Given the description of an element on the screen output the (x, y) to click on. 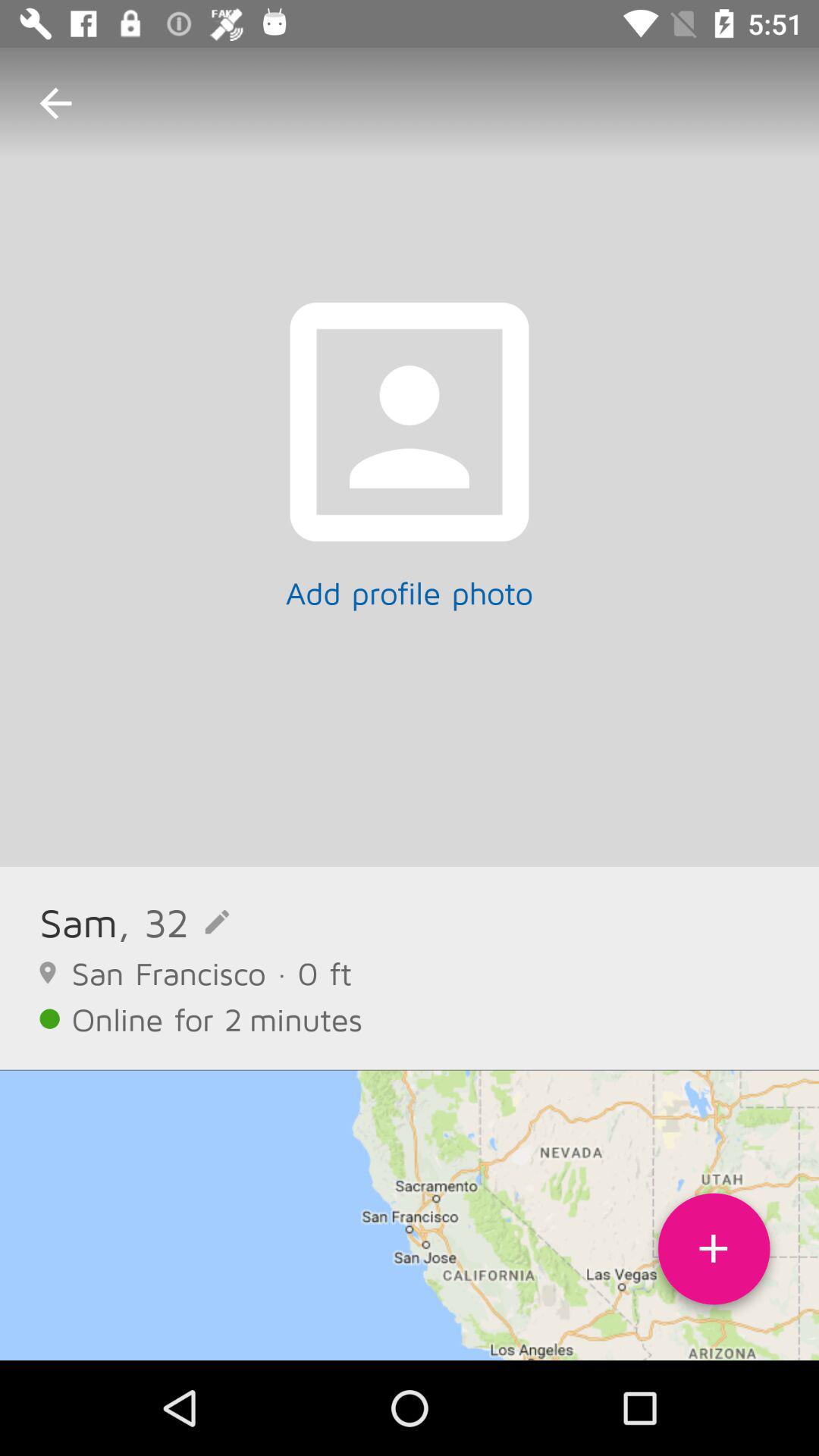
choose icon above sam (55, 103)
